Given the description of an element on the screen output the (x, y) to click on. 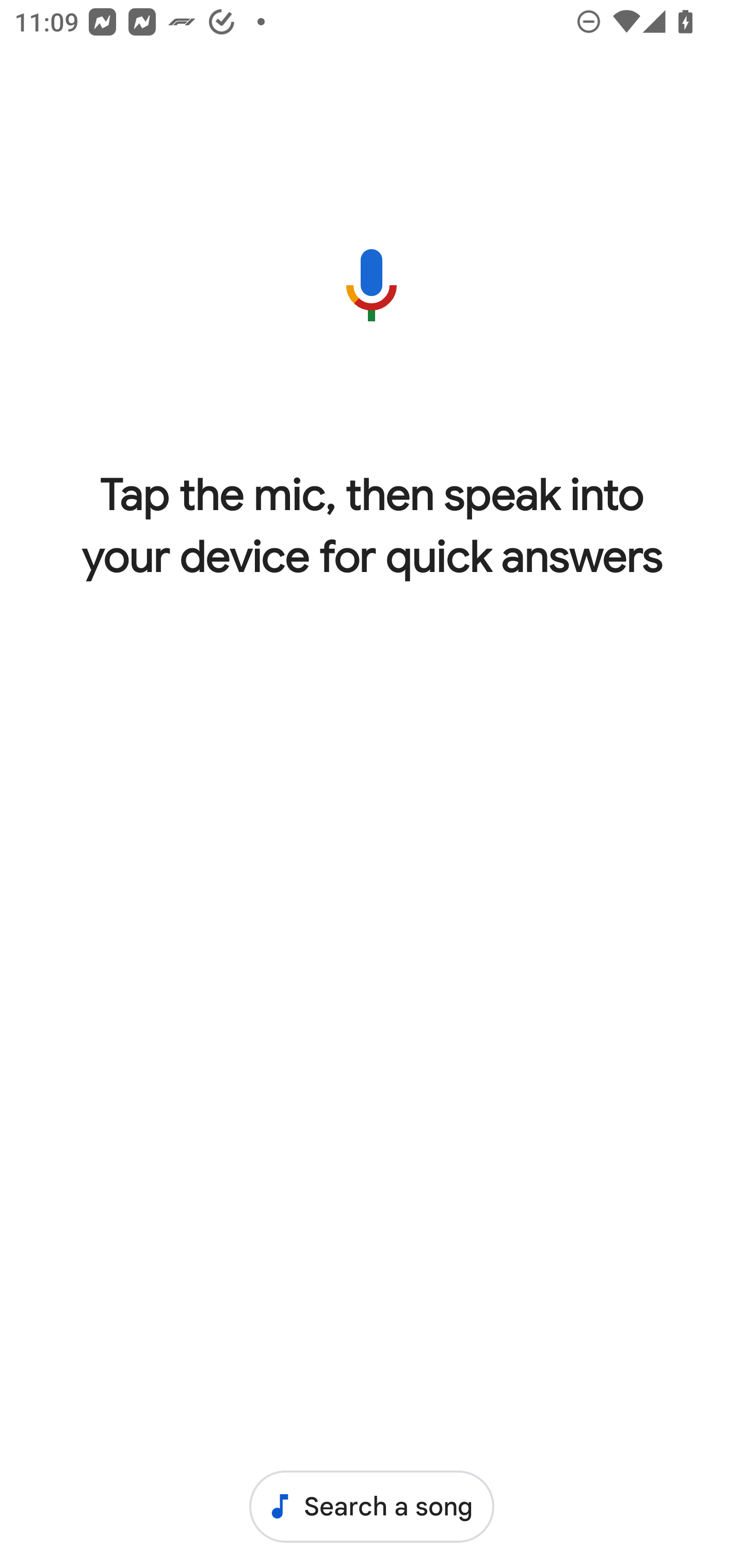
Search a song (371, 1505)
